Given the description of an element on the screen output the (x, y) to click on. 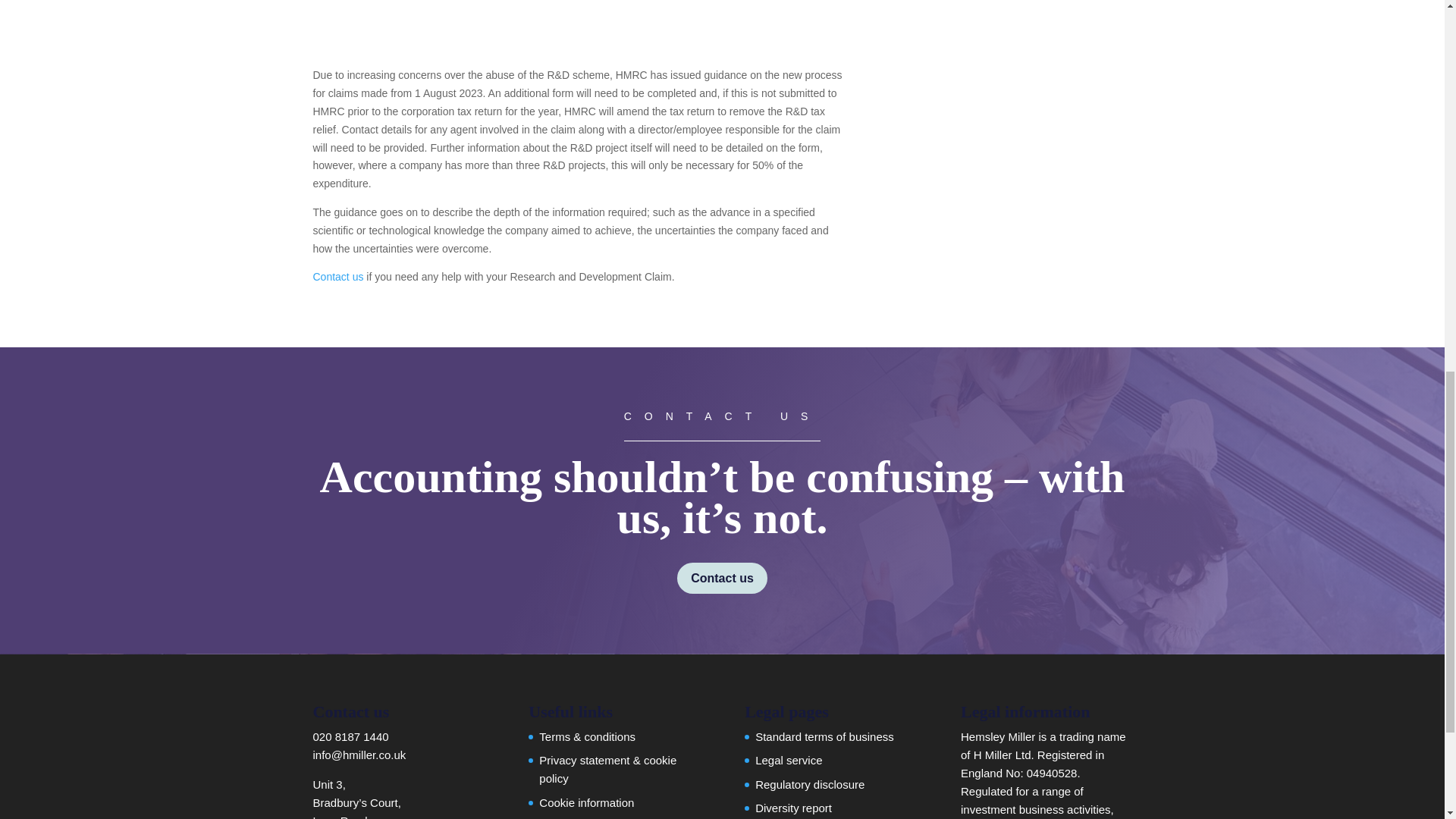
Email Hemsley Miller (359, 754)
